Given the description of an element on the screen output the (x, y) to click on. 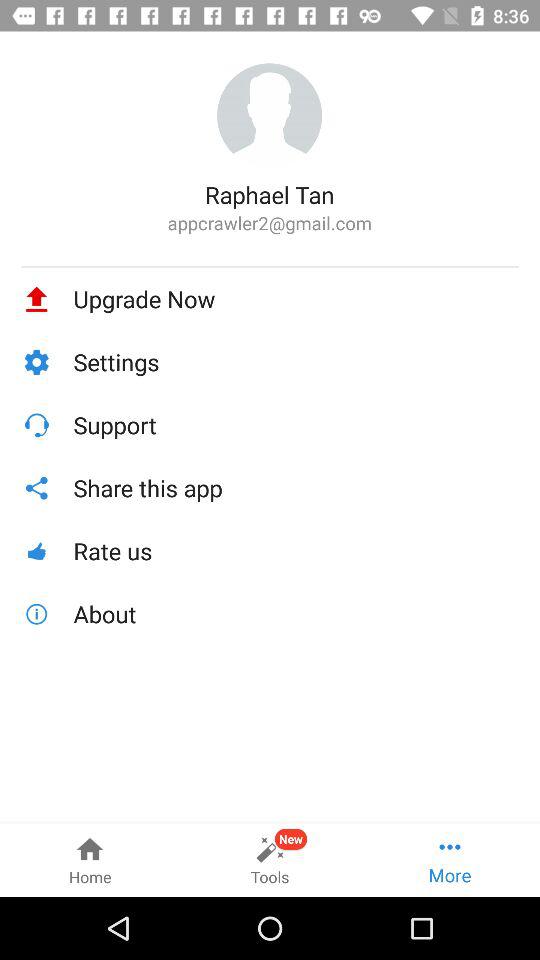
turn on the rate us item (296, 550)
